Given the description of an element on the screen output the (x, y) to click on. 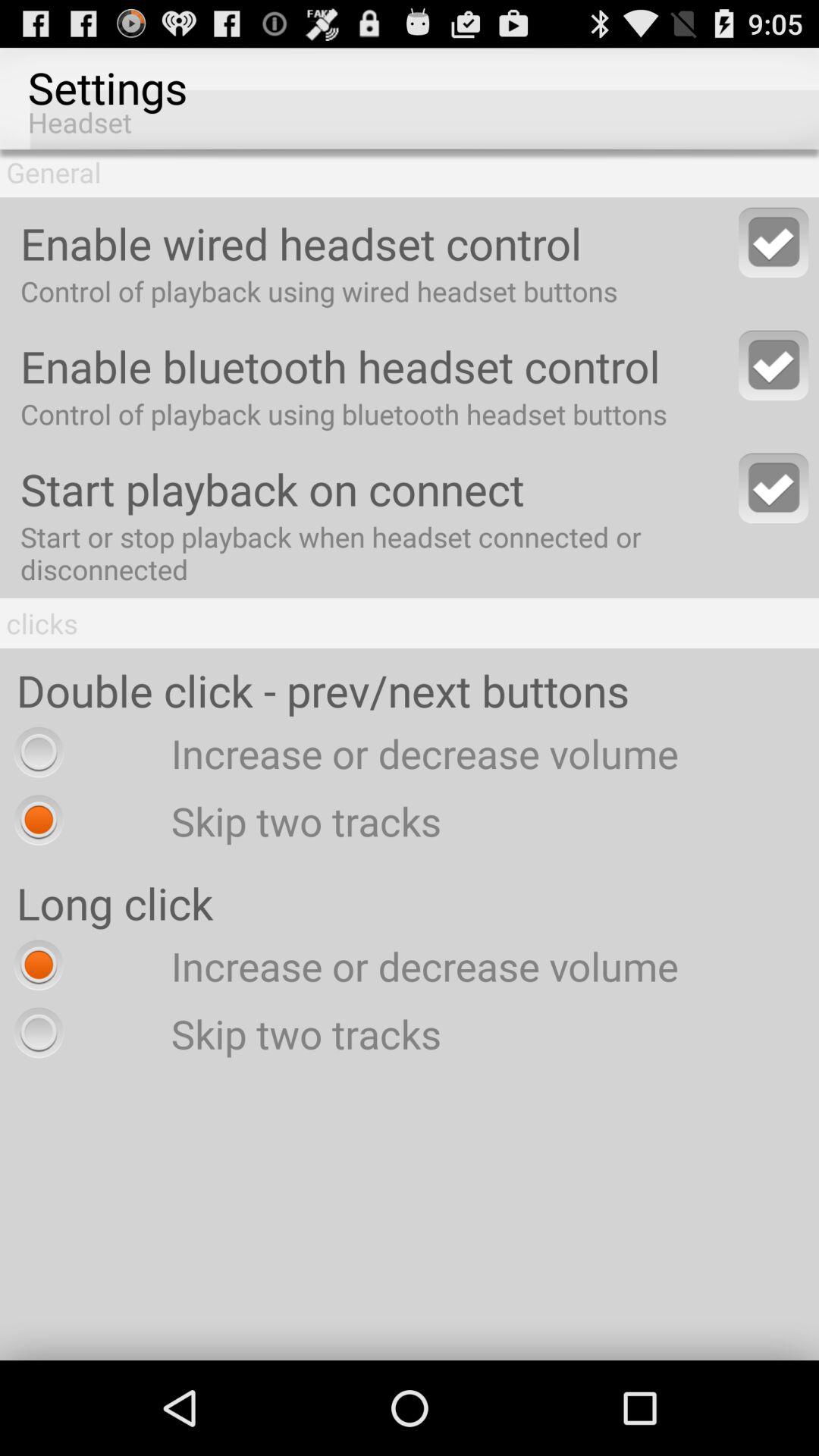
select setting (773, 242)
